Given the description of an element on the screen output the (x, y) to click on. 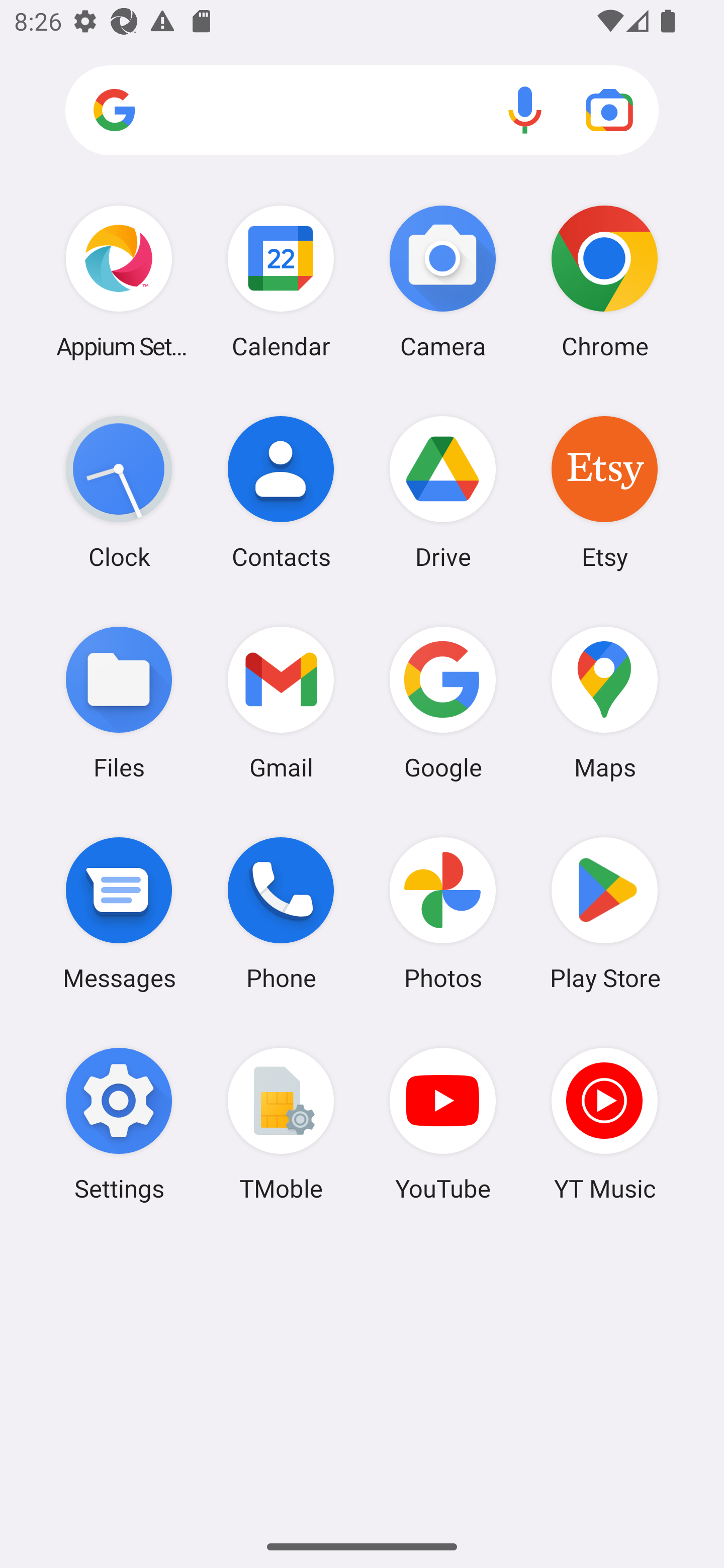
Search apps, web and more (361, 110)
Voice search (524, 109)
Google Lens (608, 109)
Appium Settings (118, 281)
Calendar (280, 281)
Camera (443, 281)
Chrome (604, 281)
Clock (118, 492)
Contacts (280, 492)
Drive (443, 492)
Etsy (604, 492)
Files (118, 702)
Gmail (280, 702)
Google (443, 702)
Maps (604, 702)
Messages (118, 913)
Phone (280, 913)
Photos (443, 913)
Play Store (604, 913)
Settings (118, 1124)
TMoble (280, 1124)
YouTube (443, 1124)
YT Music (604, 1124)
